Given the description of an element on the screen output the (x, y) to click on. 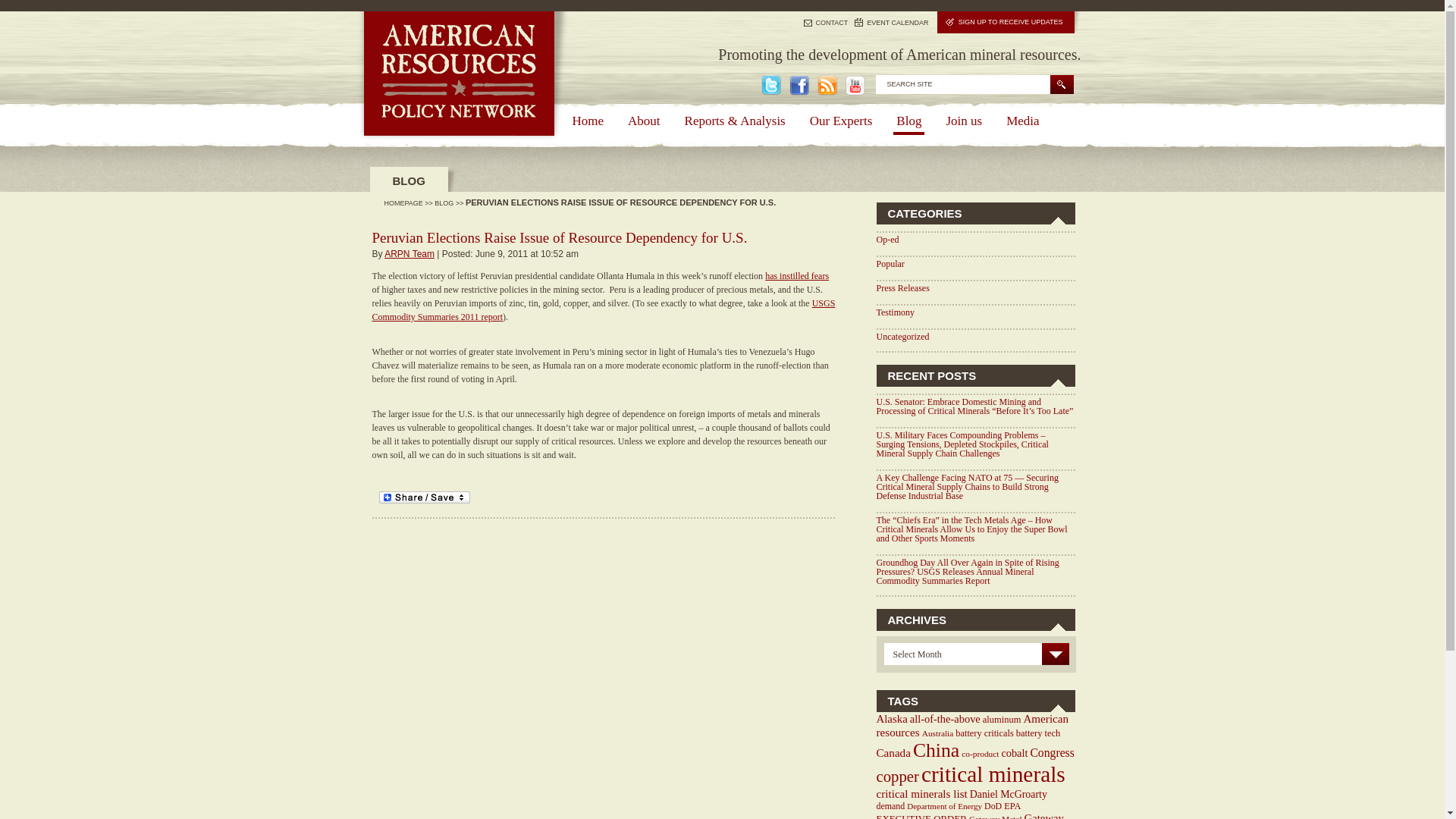
46 topics (944, 718)
View all posts filed under Testimony (895, 312)
View all posts filed under Press Releases (903, 287)
Australia (937, 732)
Press Releases (903, 287)
49 topics (891, 718)
aluminum (1002, 719)
ARPN Team (408, 253)
Op-ed (887, 239)
Our Experts (841, 122)
CONTACT (825, 22)
Canada (893, 752)
